Given the description of an element on the screen output the (x, y) to click on. 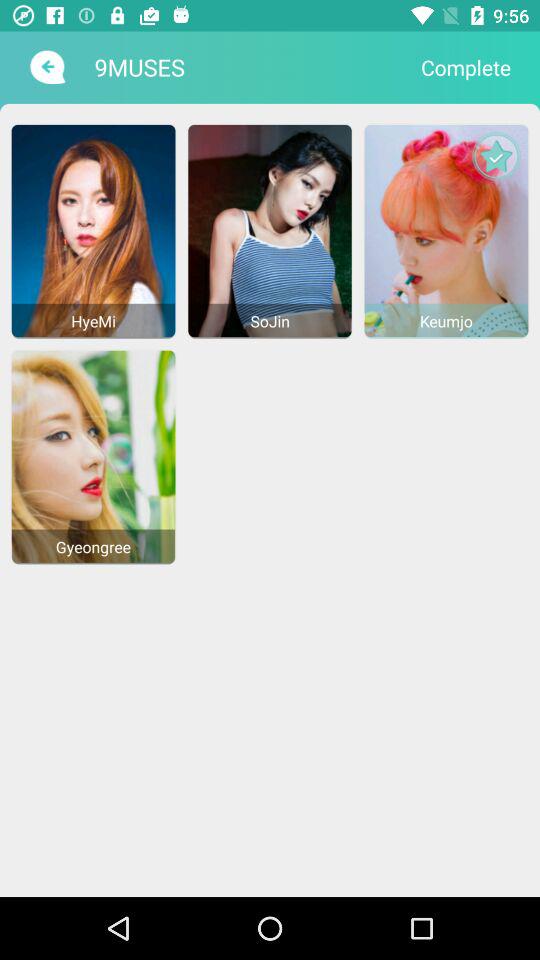
go back (45, 67)
